Given the description of an element on the screen output the (x, y) to click on. 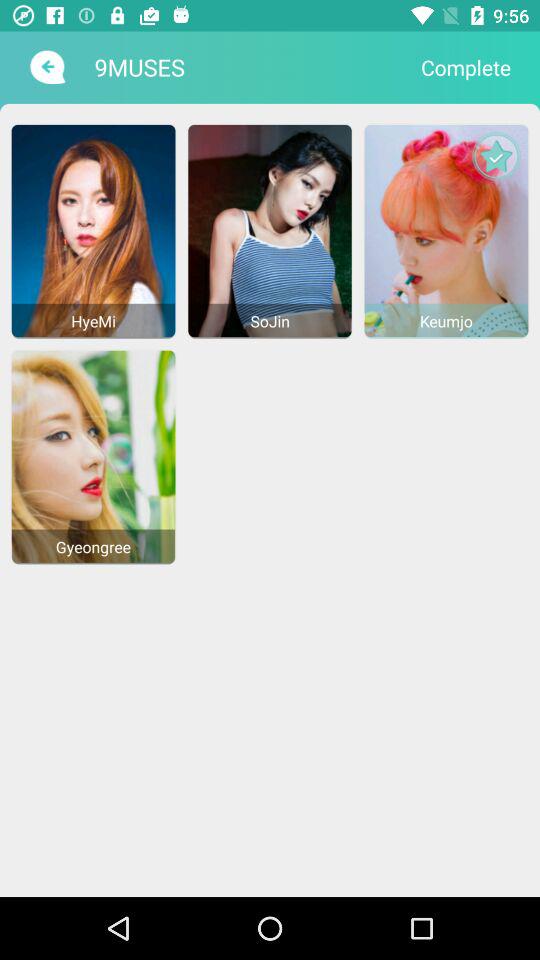
go back (45, 67)
